Given the description of an element on the screen output the (x, y) to click on. 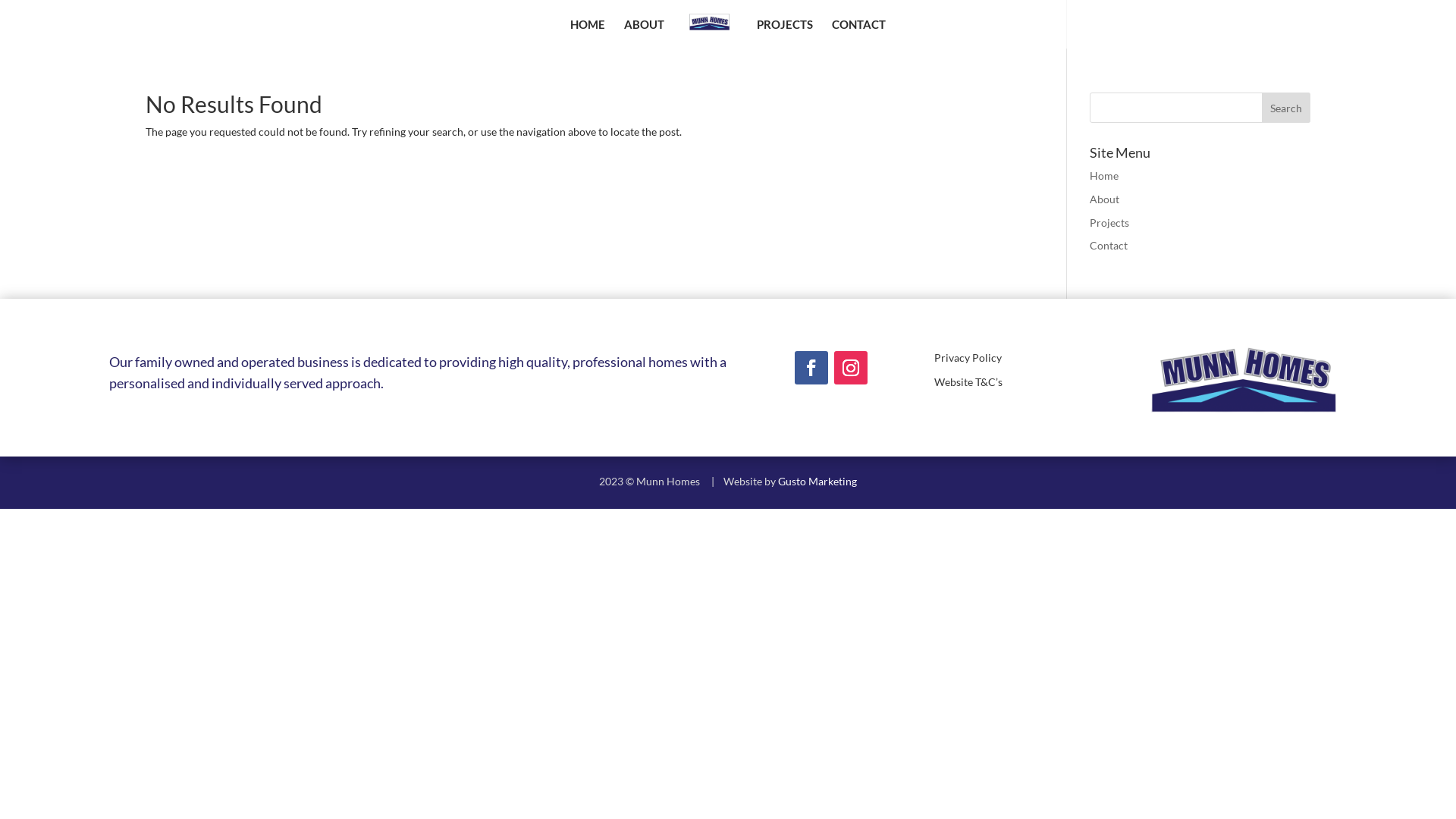
Projects Element type: text (1109, 222)
Gusto Marketing Element type: text (817, 480)
CONTACT Element type: text (858, 33)
Search Element type: text (1285, 107)
ABOUT Element type: text (644, 33)
Follow on Facebook Element type: hover (811, 367)
Privacy Policy Element type: text (967, 357)
PROJECTS Element type: text (784, 33)
HOME Element type: text (587, 33)
Home Element type: text (1103, 175)
Follow on Instagram Element type: hover (850, 367)
About Element type: text (1104, 198)
Contact Element type: text (1108, 244)
Munn_Homes_Logo-removebg-preview (1) Element type: hover (1243, 373)
